Given the description of an element on the screen output the (x, y) to click on. 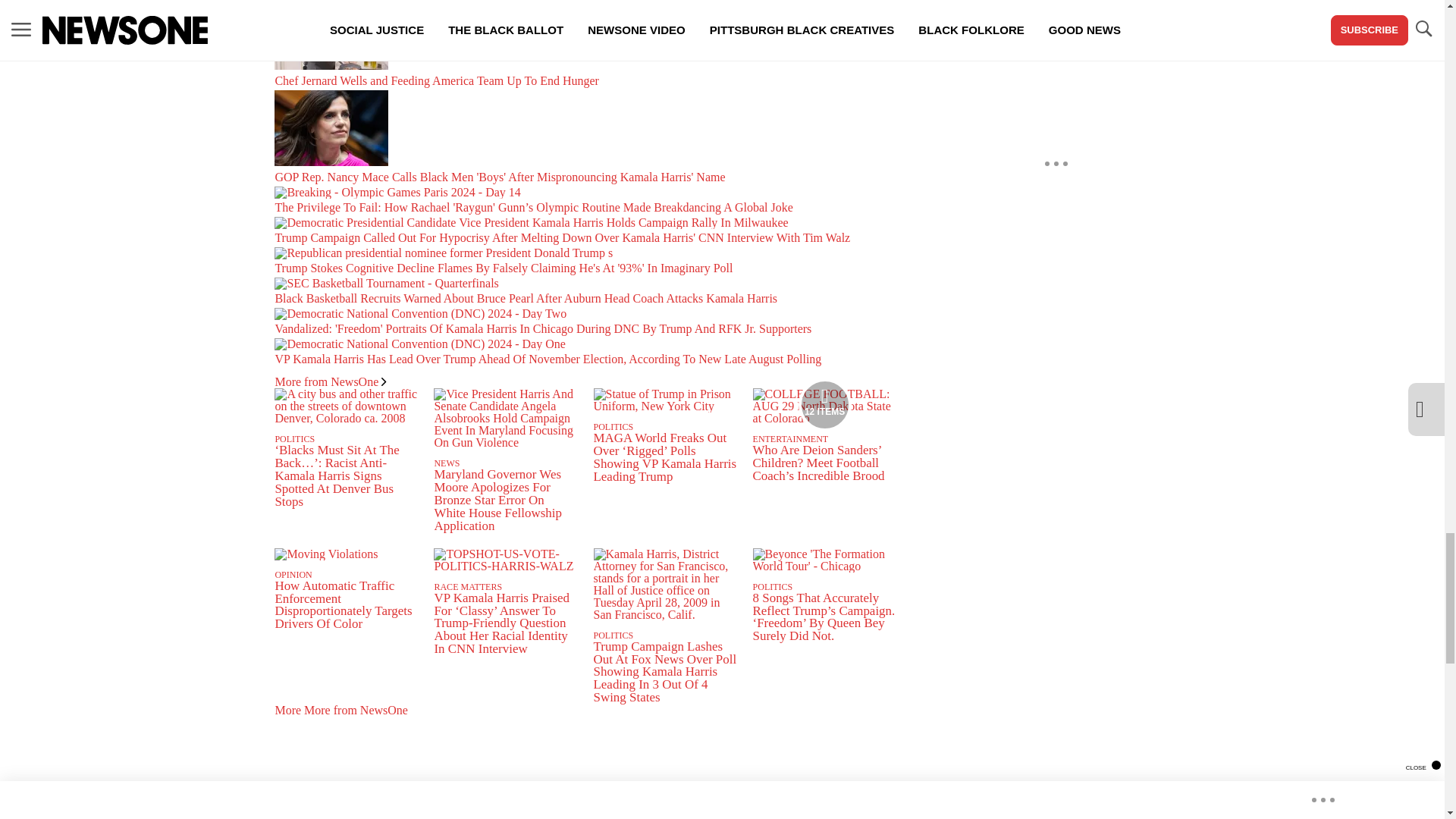
Chef Jernard Wells and Feeding America Team Up To End Hunger (585, 47)
Media Playlist (824, 404)
